Given the description of an element on the screen output the (x, y) to click on. 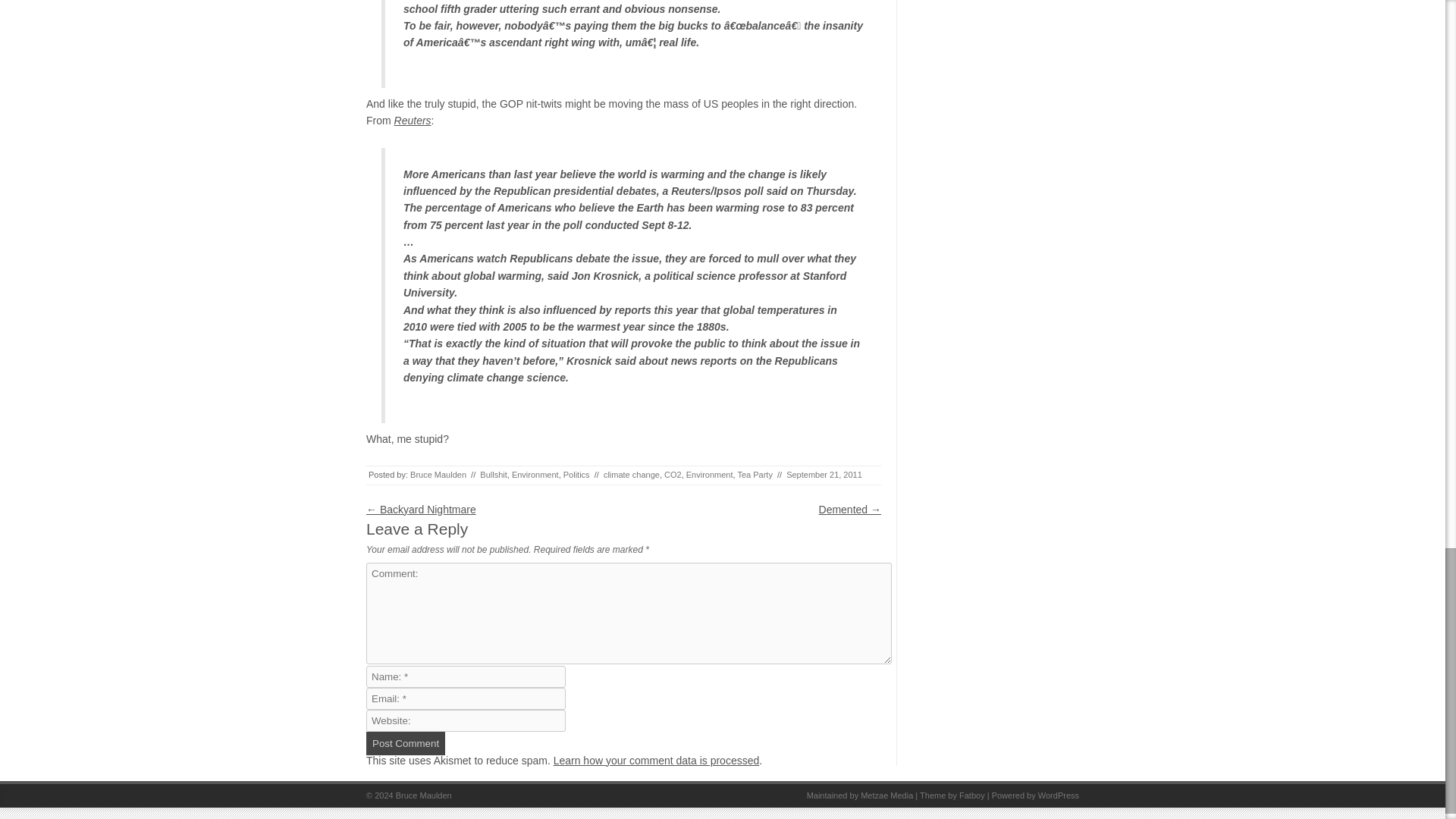
View all posts by Bruce Maulden (437, 474)
September 21, 2011 (823, 474)
WordPress (1058, 795)
Reuters (412, 120)
Politics (576, 474)
climate change (631, 474)
Environment (535, 474)
Bruce Maulden (437, 474)
Post Comment (405, 743)
Leaf Theme (972, 795)
Tea Party (753, 474)
Learn how your comment data is processed (656, 760)
6:21 am (823, 474)
CO2 (672, 474)
Bullshit (493, 474)
